Given the description of an element on the screen output the (x, y) to click on. 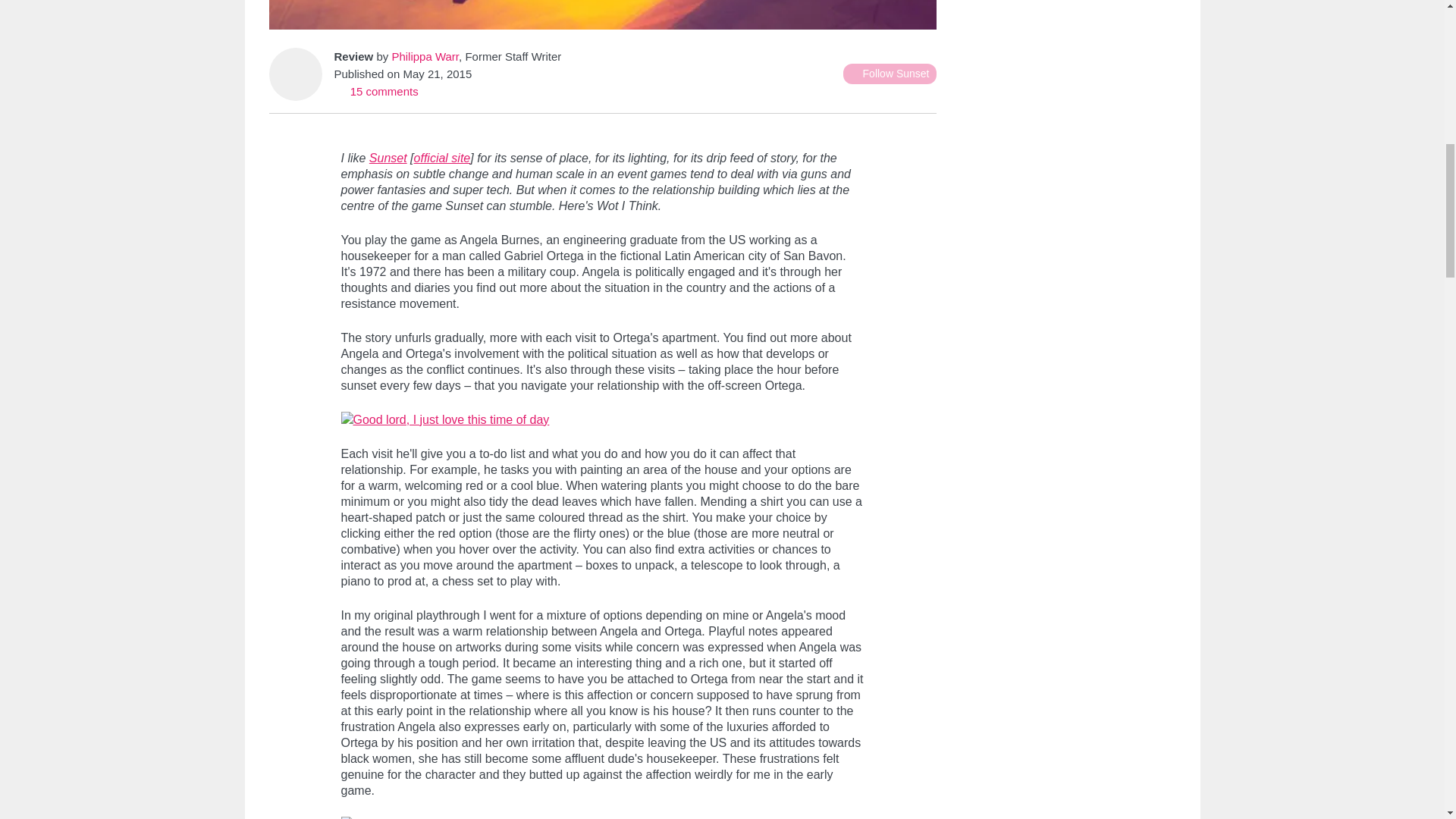
Sunset (388, 157)
Philippa Warr (424, 56)
official site (441, 157)
15 comments (375, 91)
Follow Sunset (889, 73)
